Given the description of an element on the screen output the (x, y) to click on. 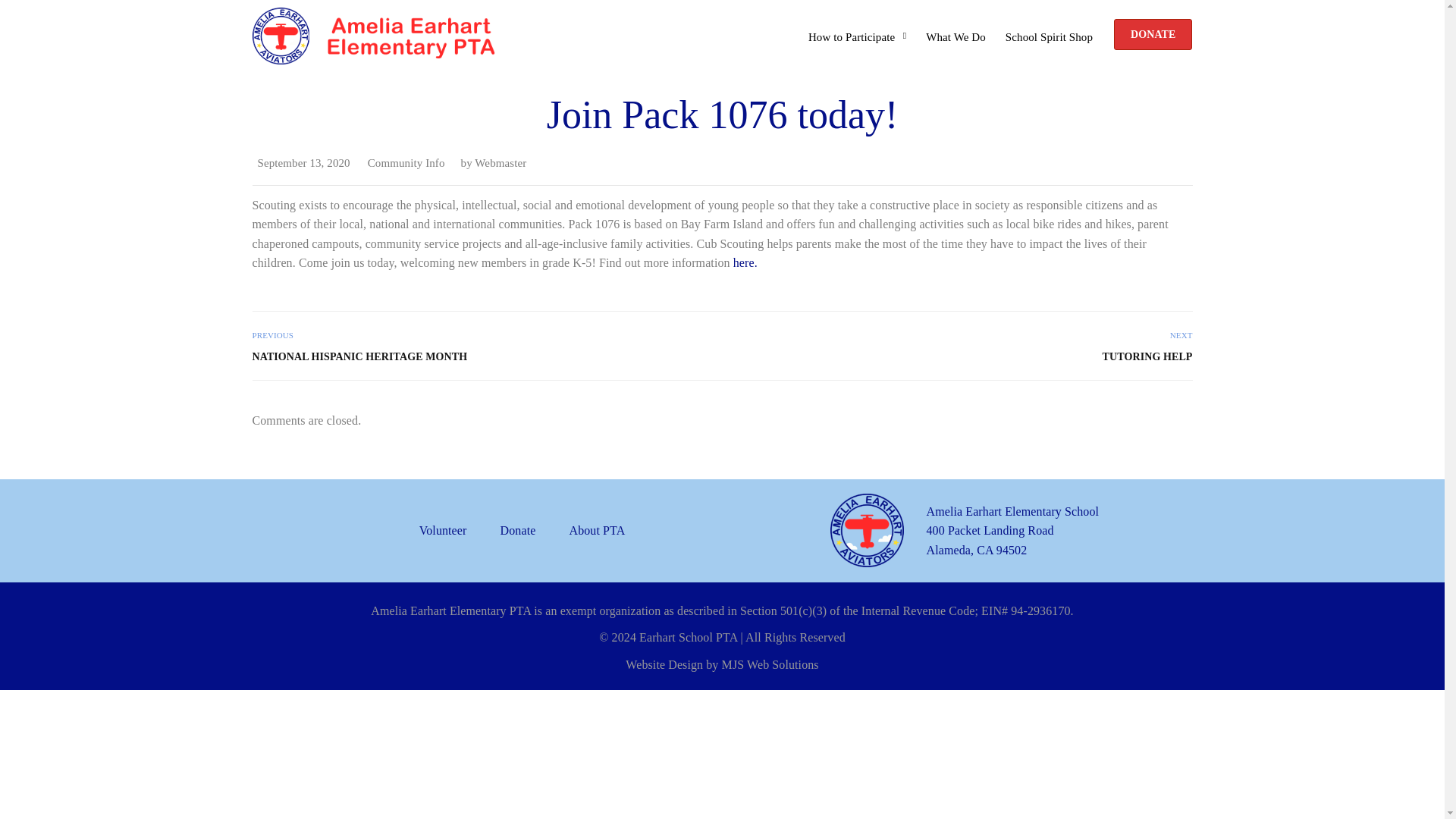
Permalink to Join Pack 1076 today! (303, 162)
NATIONAL HISPANIC HERITAGE MONTH (478, 356)
TUTORING HELP (964, 356)
Donate (1152, 33)
Volunteer (450, 530)
Website Design by MJS Web Solutions (722, 664)
How to Participate (856, 26)
here. (745, 262)
Webmaster (499, 162)
Donate (517, 530)
What We Do (955, 26)
About PTA (596, 530)
September 13, 2020 (303, 162)
View all posts by Webmaster (499, 162)
DONATE (1152, 33)
